Given the description of an element on the screen output the (x, y) to click on. 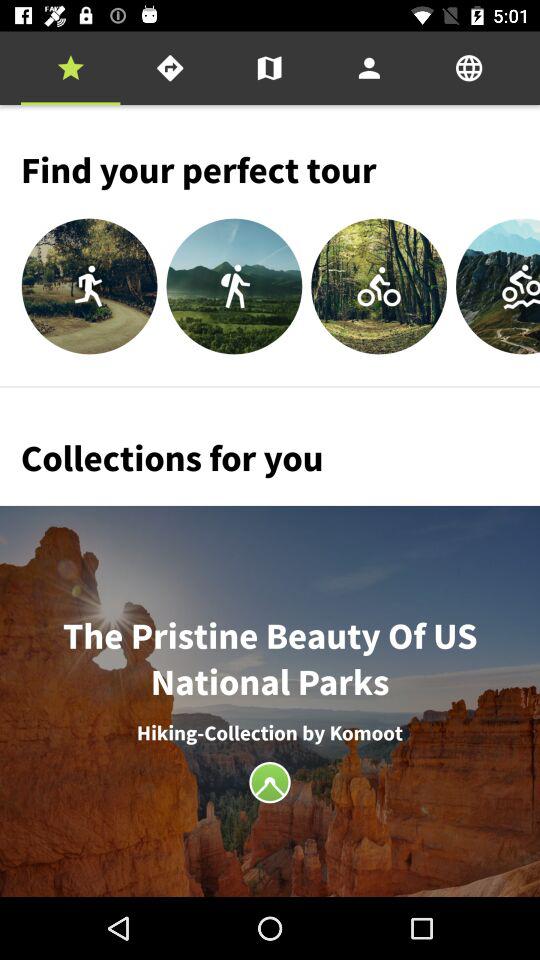
turn on the item above the find your perfect icon (169, 68)
